Given the description of an element on the screen output the (x, y) to click on. 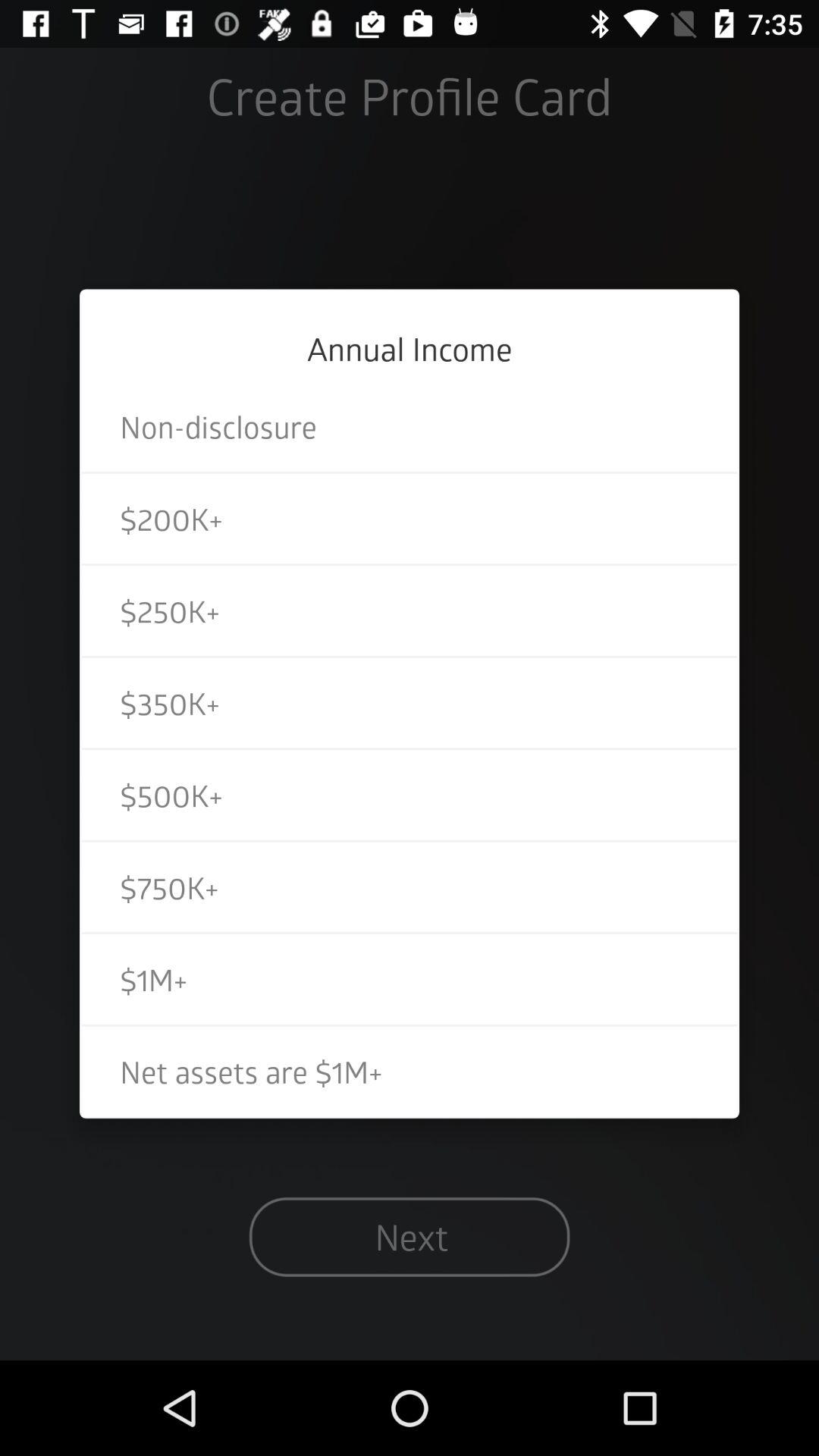
turn off the icon above $200k+ item (409, 426)
